Given the description of an element on the screen output the (x, y) to click on. 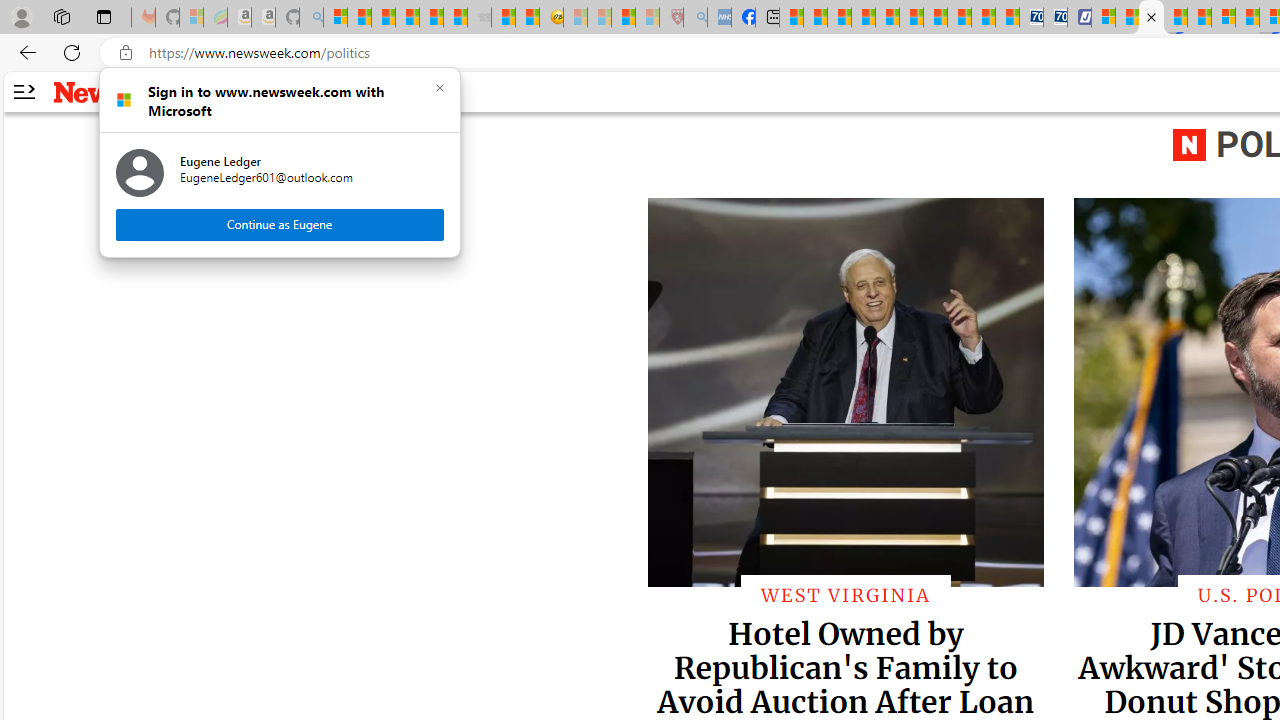
New Report Confirms 2023 Was Record Hot | Watch (430, 17)
AutomationID: side-arrow (23, 92)
12 Popular Science Lies that Must be Corrected - Sleeping (647, 17)
